Given the description of an element on the screen output the (x, y) to click on. 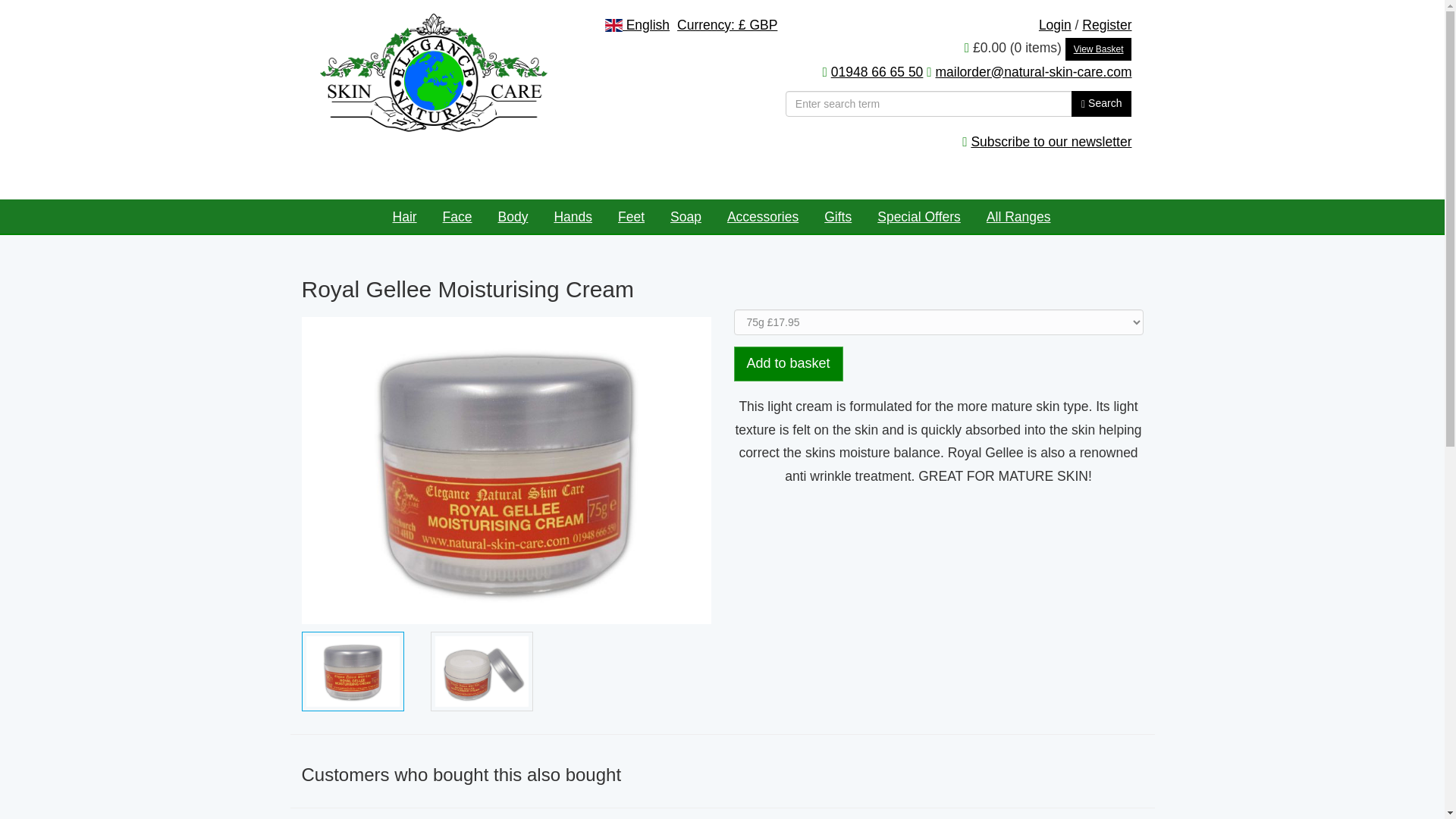
01948 66 65 50 (877, 70)
View Basket (1098, 48)
Register (1106, 23)
Login (1055, 23)
English (635, 24)
Search (1101, 103)
Add to basket (788, 363)
Subscribe to our newsletter (1051, 141)
